Given the description of an element on the screen output the (x, y) to click on. 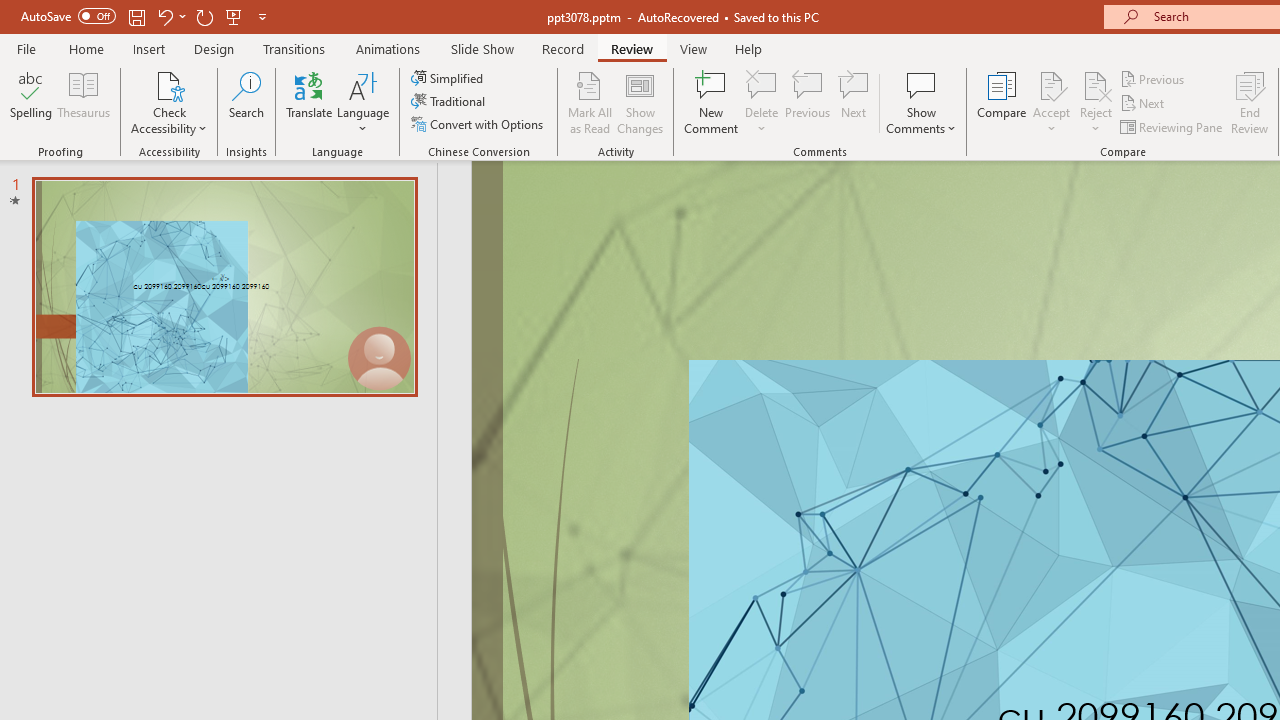
Show Changes (639, 102)
Accept (1051, 102)
Previous (1153, 78)
Accept Change (1051, 84)
End Review (1249, 102)
New Comment (711, 102)
Convert with Options... (479, 124)
Translate (309, 102)
Thesaurus... (83, 102)
